Given the description of an element on the screen output the (x, y) to click on. 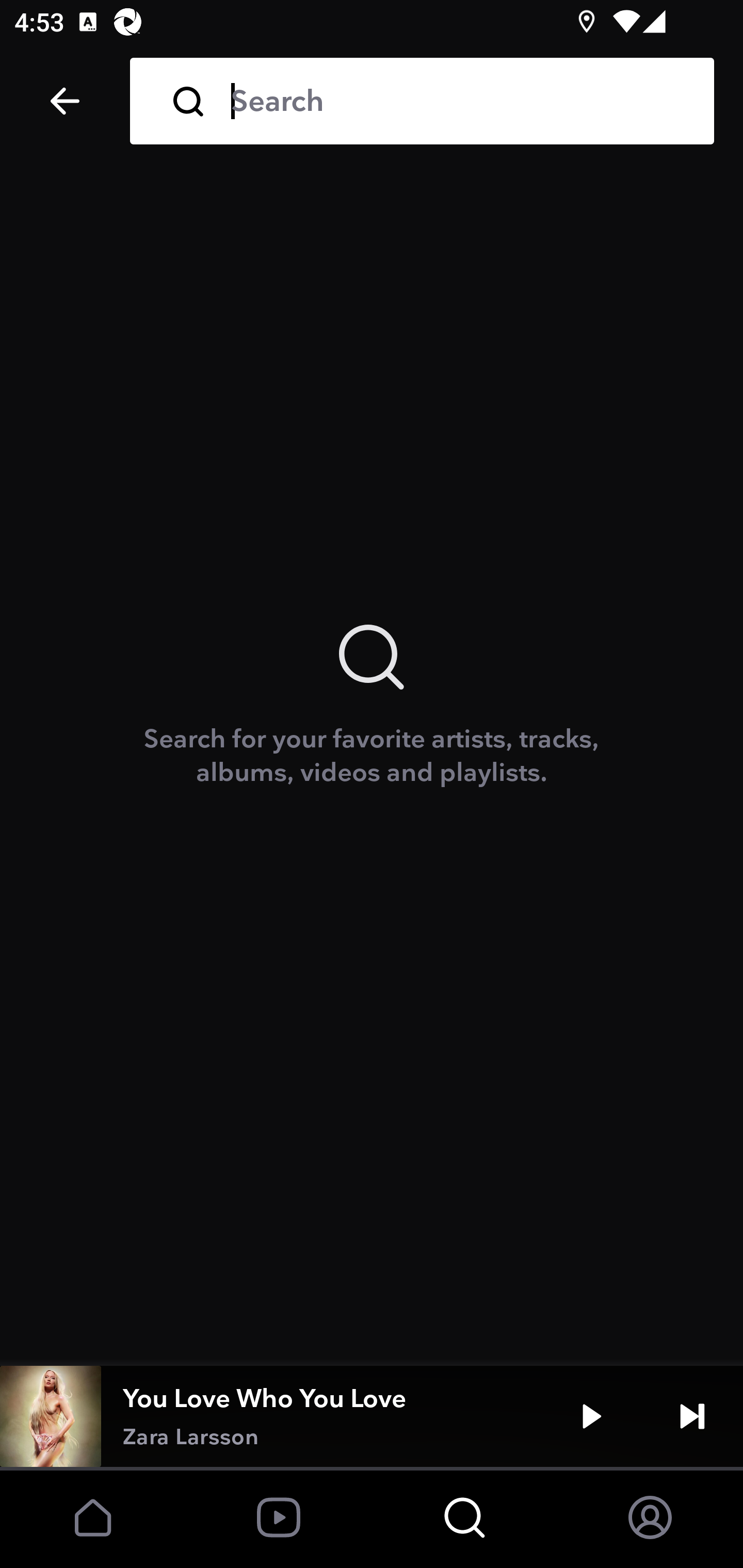
Search (457, 100)
You Love Who You Love Zara Larsson Play (371, 1416)
Play (590, 1416)
